Given the description of an element on the screen output the (x, y) to click on. 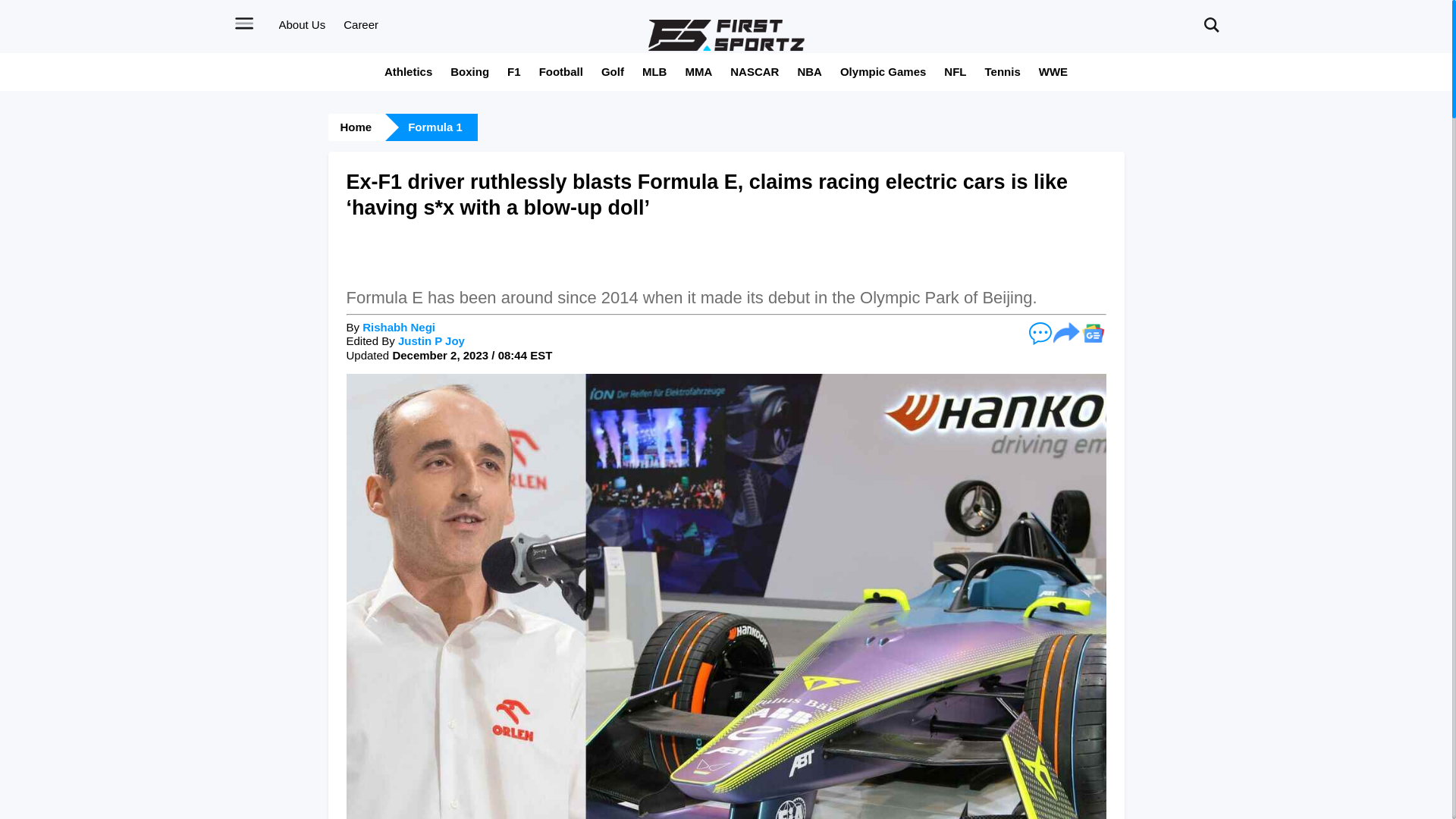
Athletics (408, 71)
WWE (1053, 71)
Olympic Games (883, 71)
MMA (697, 71)
NFL (954, 71)
Golf (612, 71)
Boxing (469, 71)
F1 (513, 71)
NASCAR (754, 71)
Tennis (1002, 71)
